Given the description of an element on the screen output the (x, y) to click on. 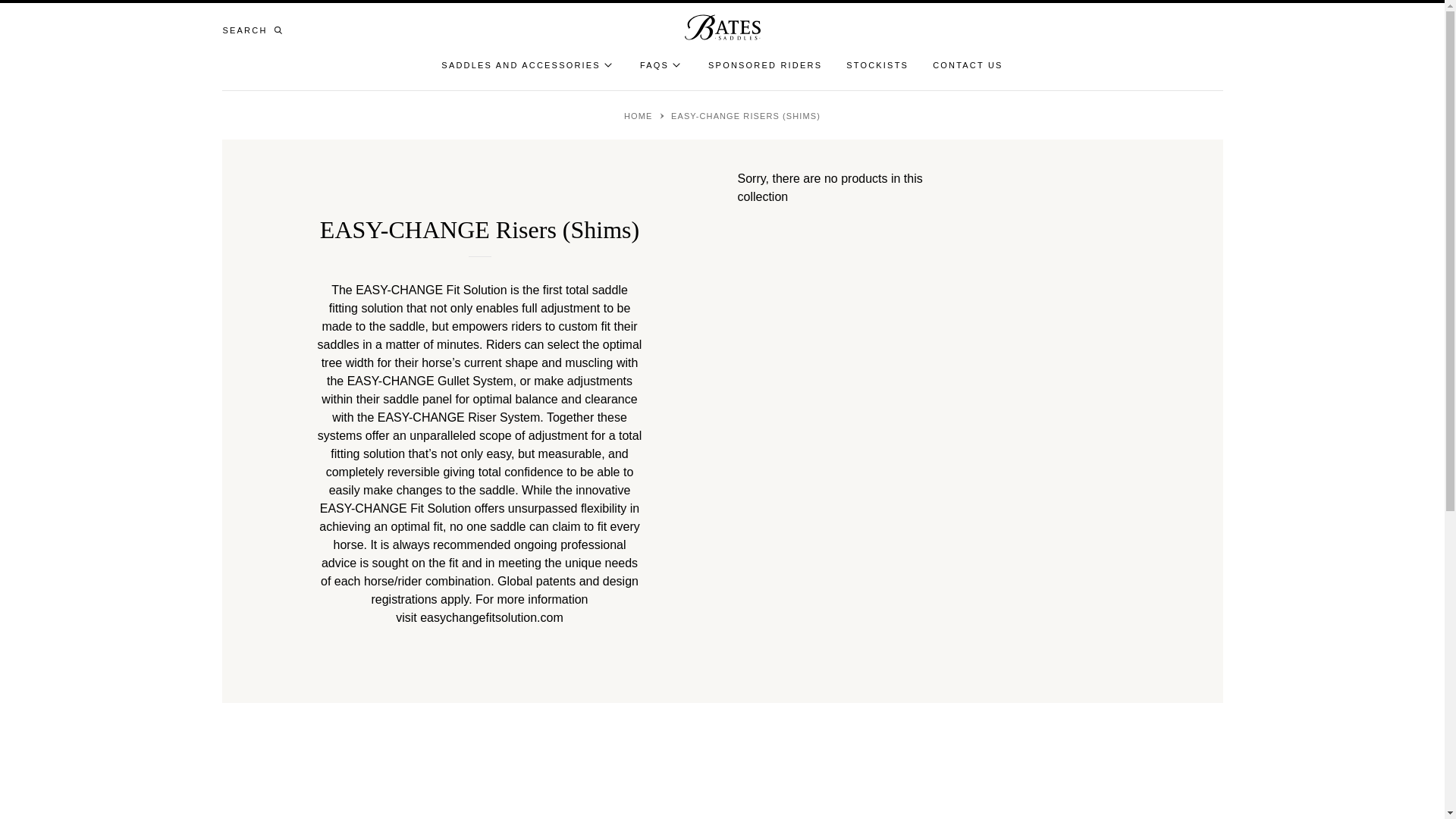
SEARCH (254, 30)
SADDLES AND ACCESSORIES (528, 65)
HOME (640, 115)
SPONSORED RIDERS (764, 65)
CONTACT US (968, 65)
FAQS (662, 65)
Bates Saddles (722, 27)
STOCKISTS (876, 65)
